Given the description of an element on the screen output the (x, y) to click on. 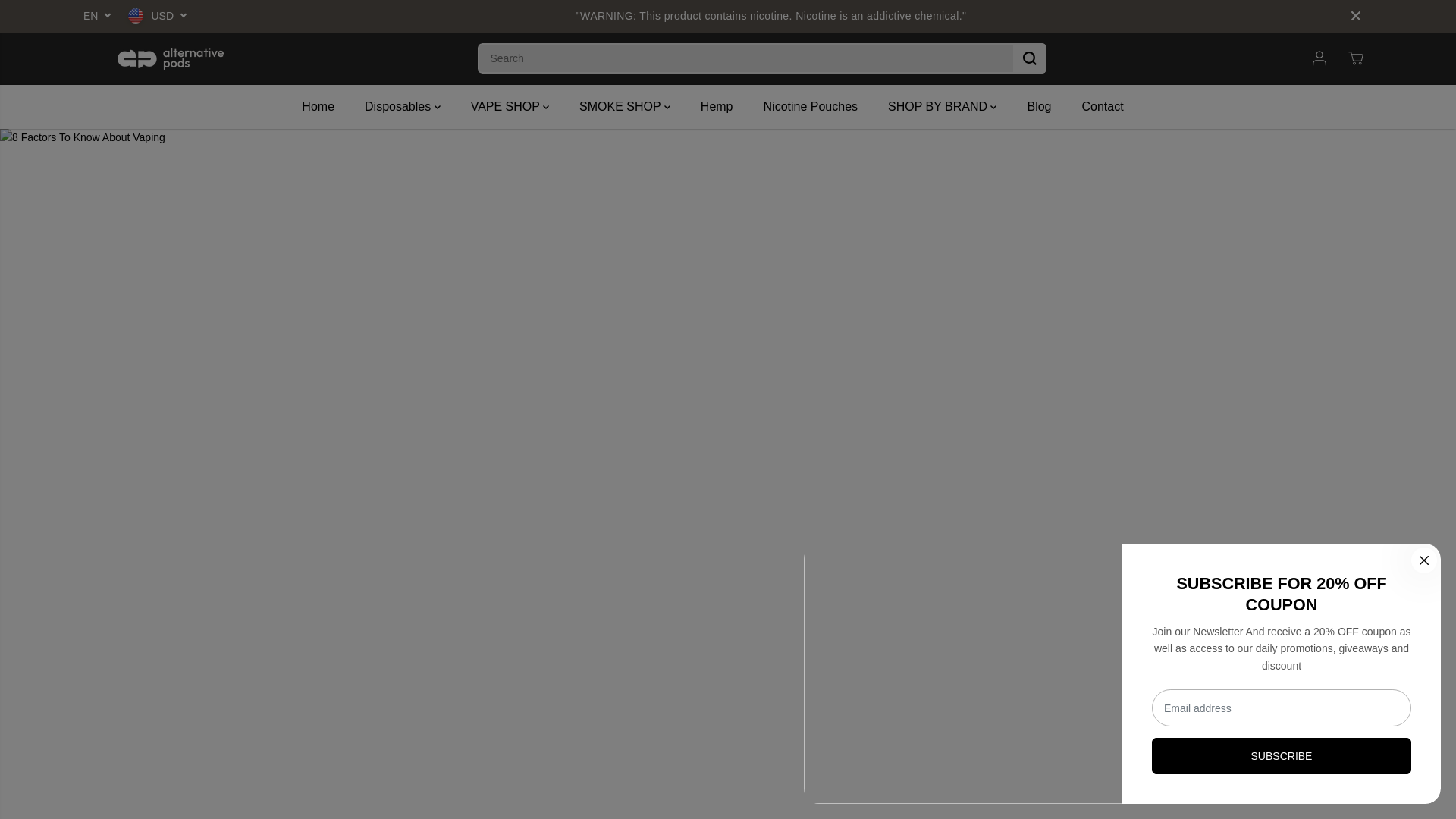
SKIP TO CONTENT (60, 18)
Log in (1319, 58)
Home (328, 106)
Cart (1356, 58)
